Given the description of an element on the screen output the (x, y) to click on. 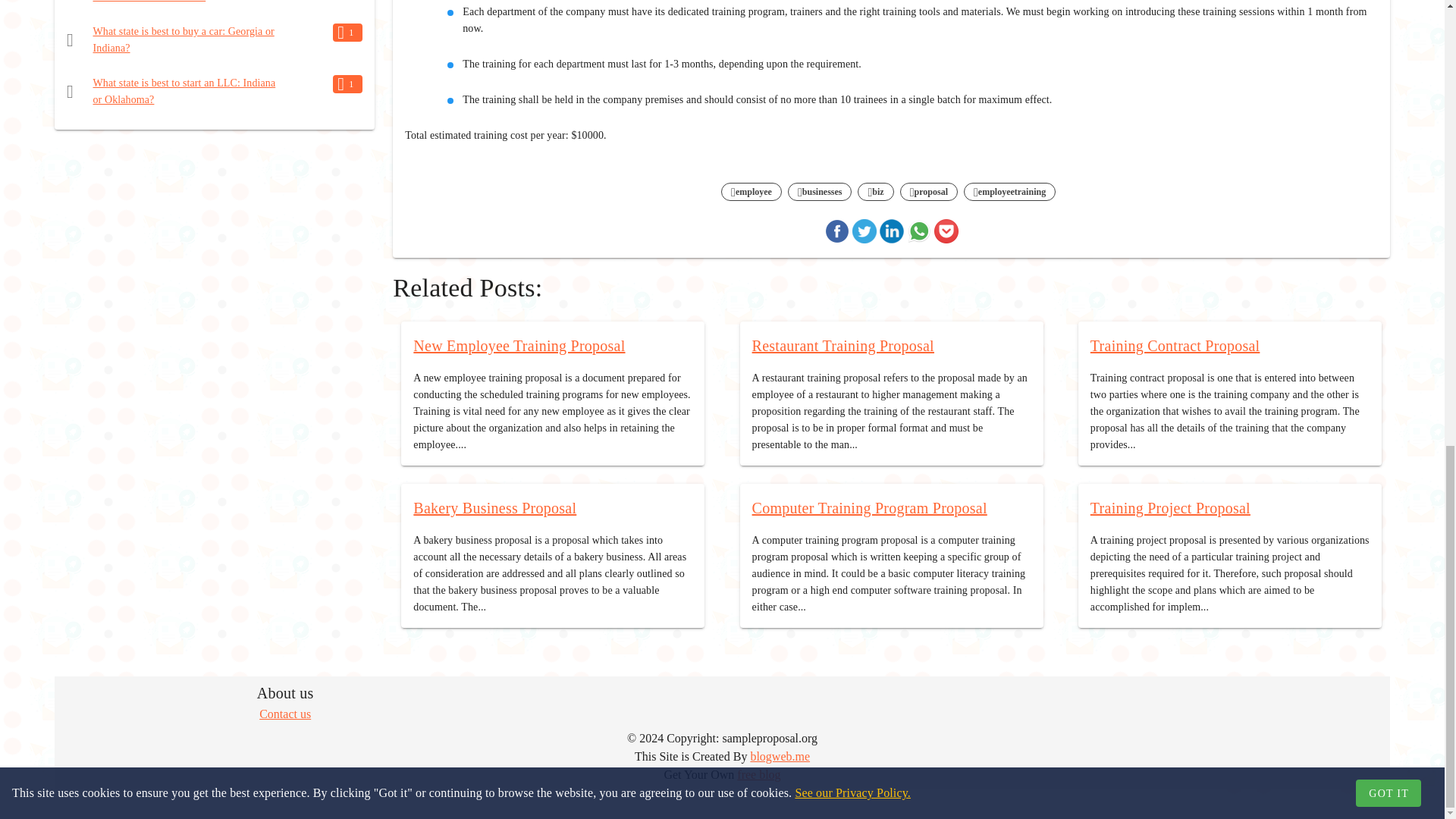
What state is best to start an LLC: Indiana or Oklahoma? (184, 90)
employeetraining (1009, 191)
proposal (928, 191)
Restaurant Training Proposal (843, 345)
employee (750, 191)
What state is best to buy a car: Georgia or Indiana? (184, 39)
biz (875, 191)
New Employee Training Proposal (518, 345)
What state is best to buy a car: Georgia or Indiana? (184, 39)
businesses (820, 191)
What state is best to start an LLC: Indiana or Oklahoma? (184, 90)
